Given the description of an element on the screen output the (x, y) to click on. 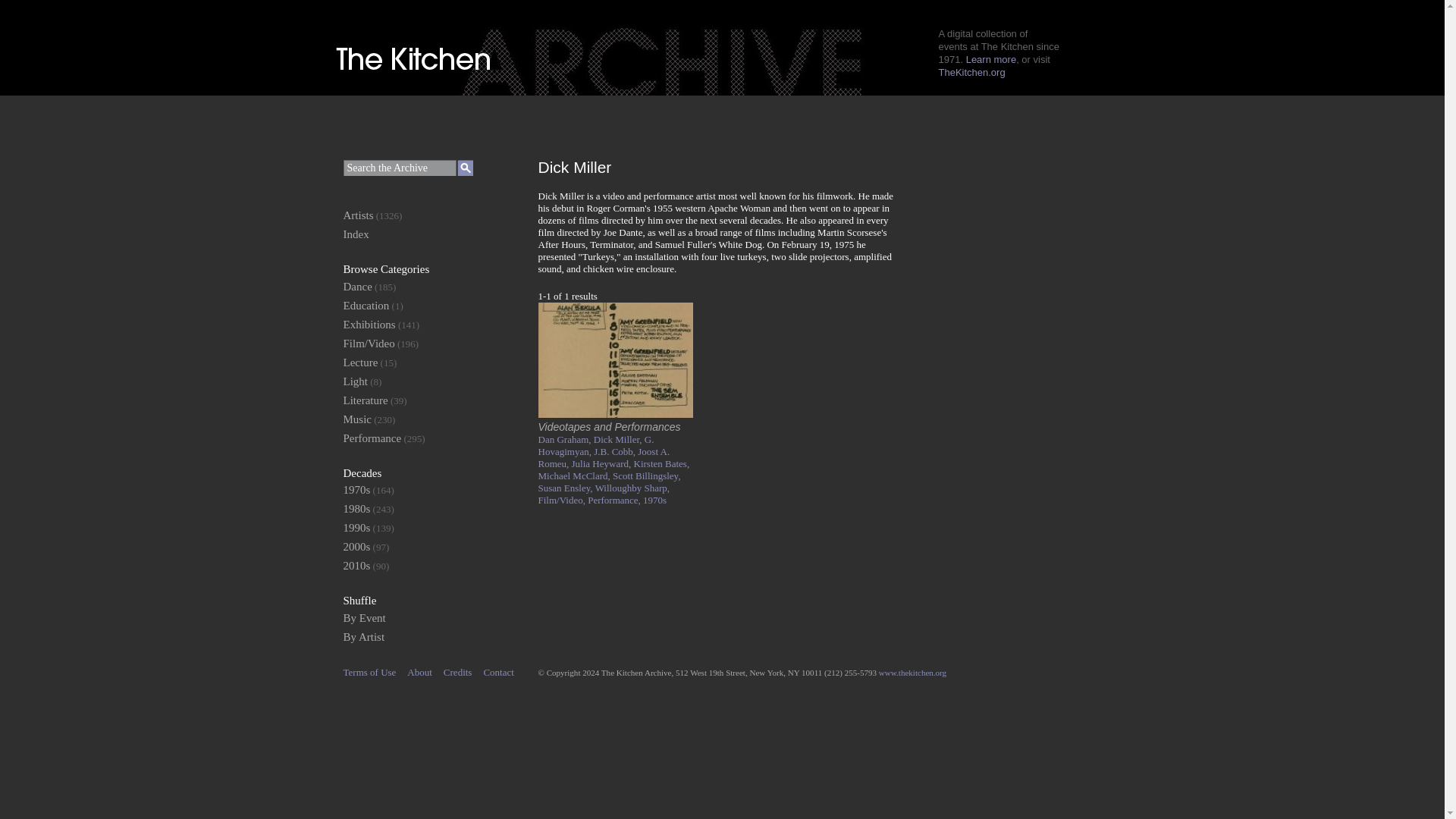
1970s (355, 490)
TheKitchen.org (972, 71)
Willoughby Sharp, (632, 487)
Permalink to Videotapes and Performances (615, 414)
Performance, (615, 500)
Dance (356, 286)
1980s (355, 508)
2010s (355, 565)
Dick Miller, (619, 439)
Search the Archive (398, 167)
Dan Graham, (566, 439)
Learn more (991, 59)
1990s (355, 527)
By Event (363, 616)
Joost A. Romeu, (603, 457)
